Given the description of an element on the screen output the (x, y) to click on. 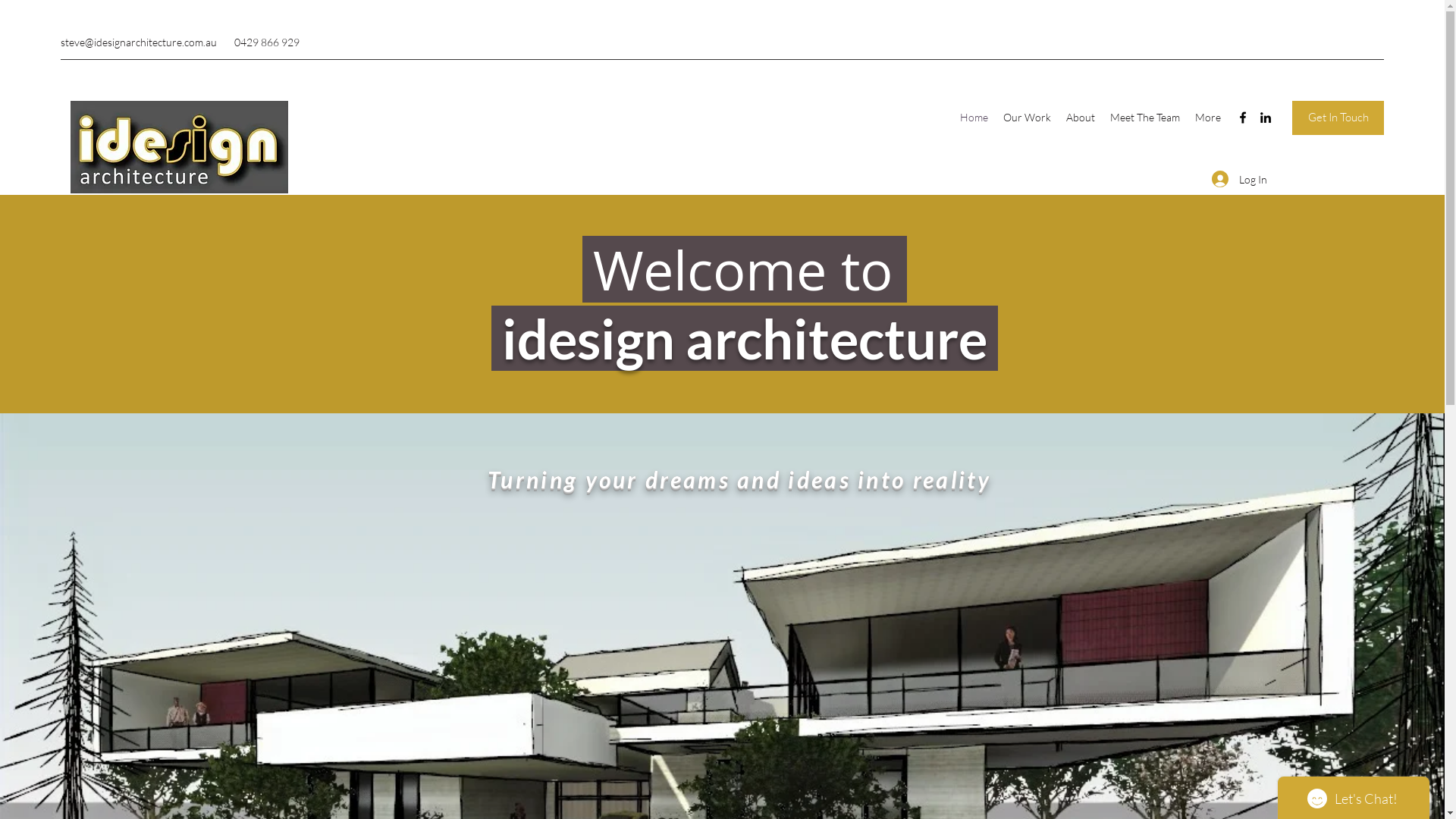
Our Work Element type: text (1026, 117)
steve@idesignarchitecture.com.au Element type: text (138, 41)
Log In Element type: text (1239, 179)
Meet The Team Element type: text (1144, 117)
About Element type: text (1080, 117)
Get In Touch Element type: text (1337, 117)
Home Element type: text (973, 117)
